Given the description of an element on the screen output the (x, y) to click on. 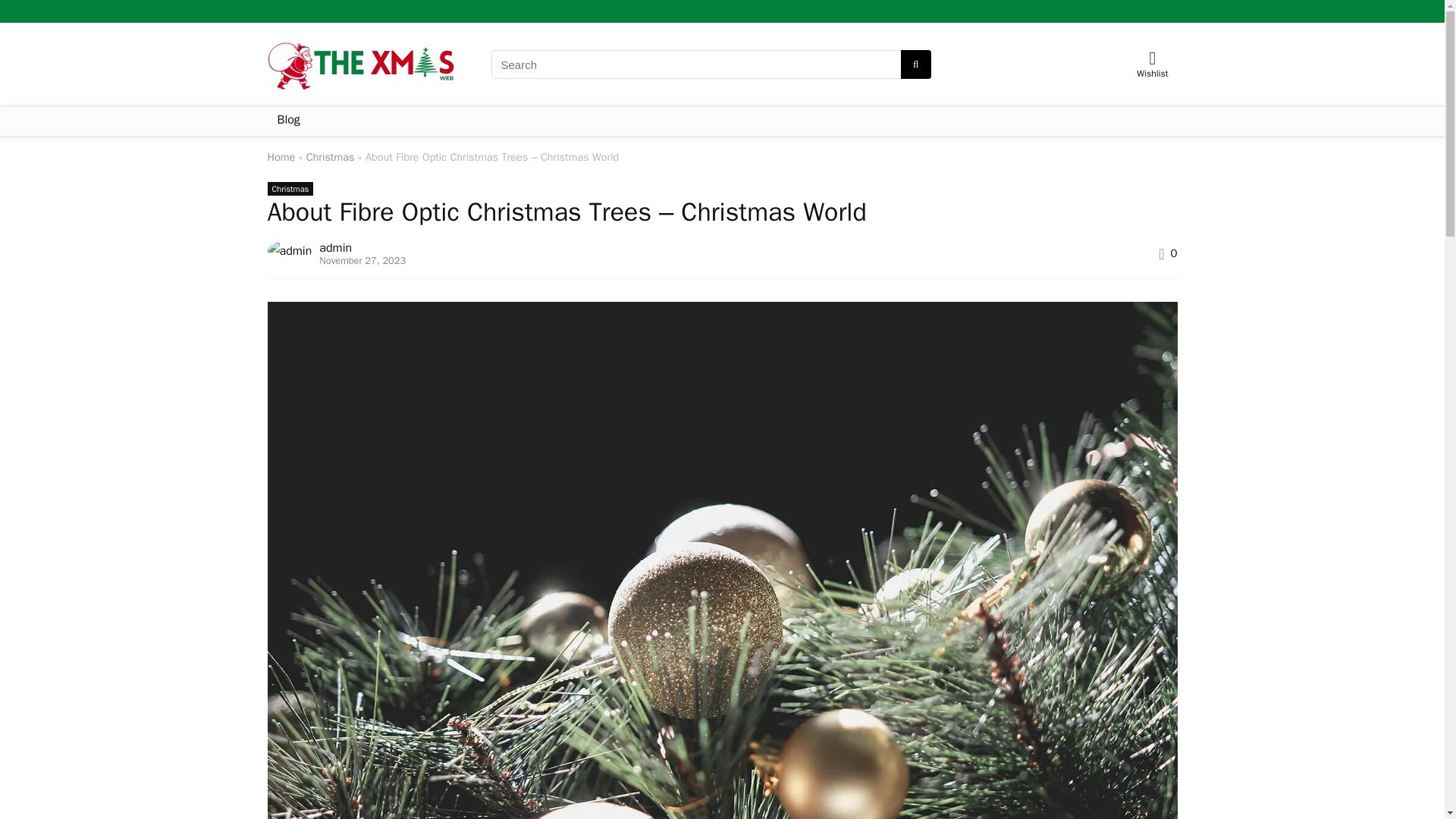
admin (335, 247)
Christmas (289, 188)
View all posts in Christmas (289, 188)
Home (280, 156)
Christmas (330, 156)
Blog (287, 121)
